Given the description of an element on the screen output the (x, y) to click on. 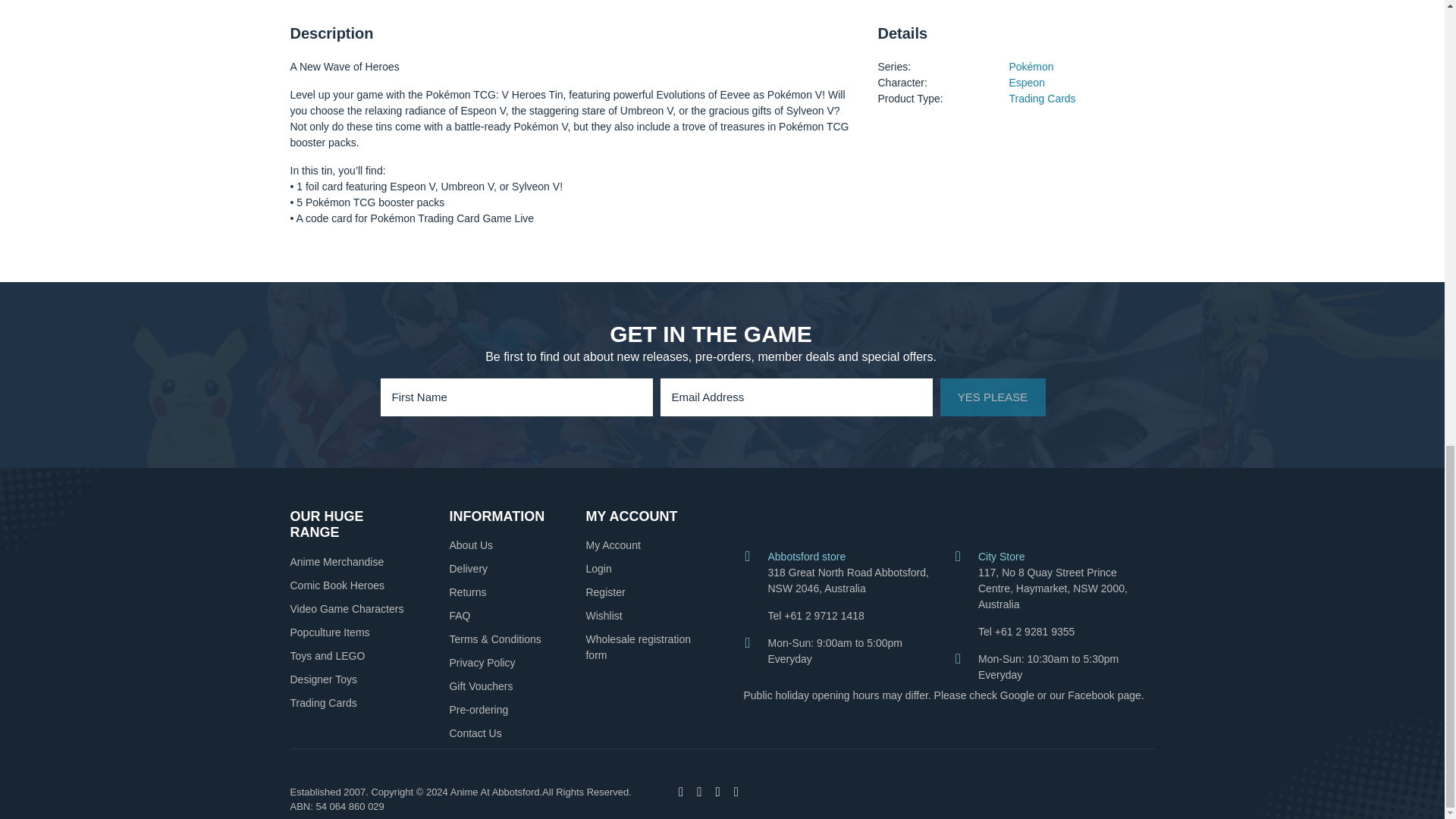
YES PLEASE (992, 397)
